Given the description of an element on the screen output the (x, y) to click on. 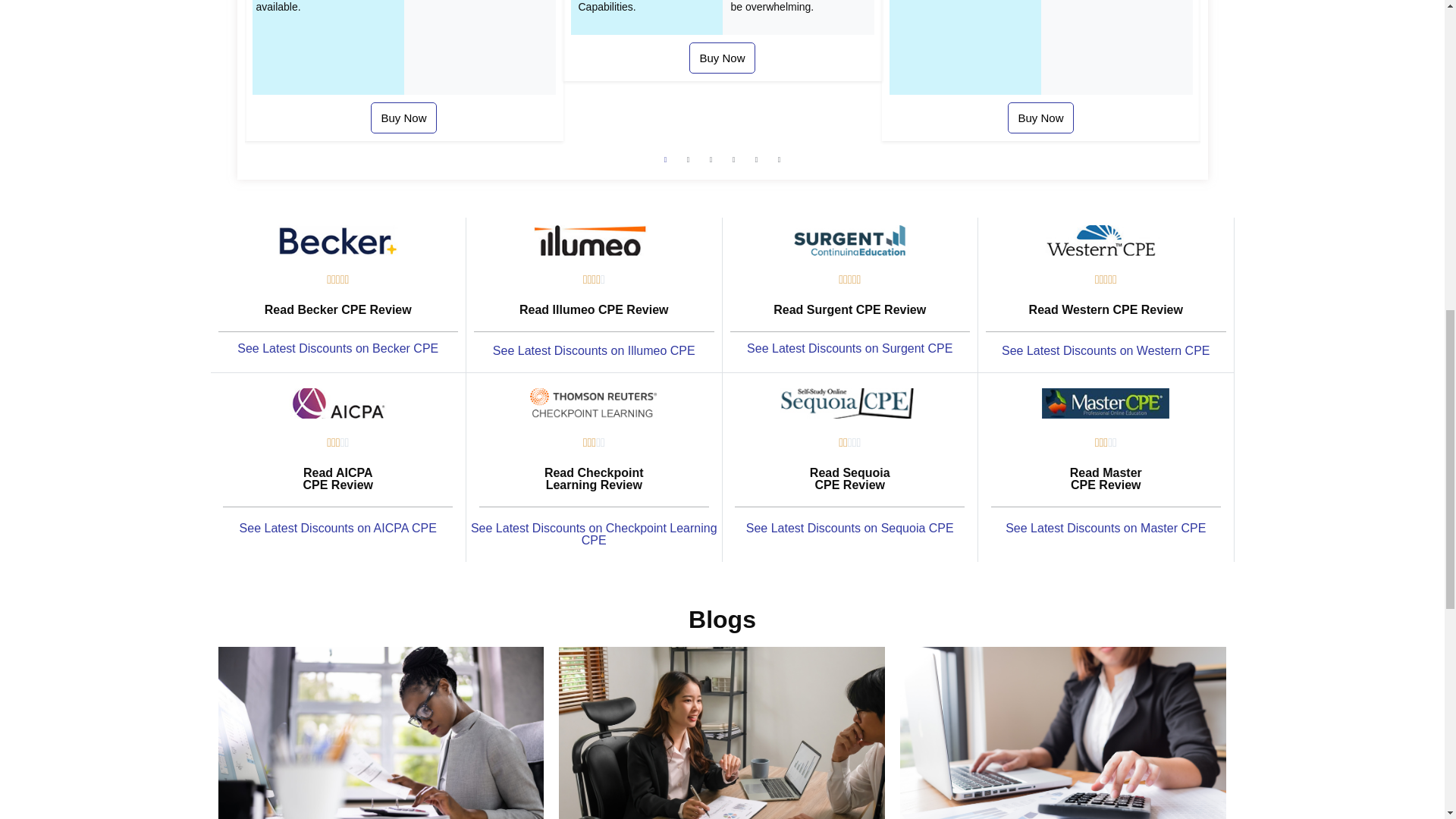
See Latest Discounts on Checkpoint Learning CPE (593, 534)
See Latest Discounts on Western CPE (1105, 350)
See Latest Discounts on Master CPE (1105, 527)
See Latest Discounts on Illumeo CPE (594, 350)
See Latest Discounts on Sequoia CPE (849, 527)
Buy Now (1040, 117)
See Latest Discounts on Becker CPE (337, 348)
Buy Now (721, 57)
Buy Now (403, 117)
See Latest Discounts on Surgent CPE (849, 348)
See Latest Discounts on AICPA CPE (338, 527)
